Given the description of an element on the screen output the (x, y) to click on. 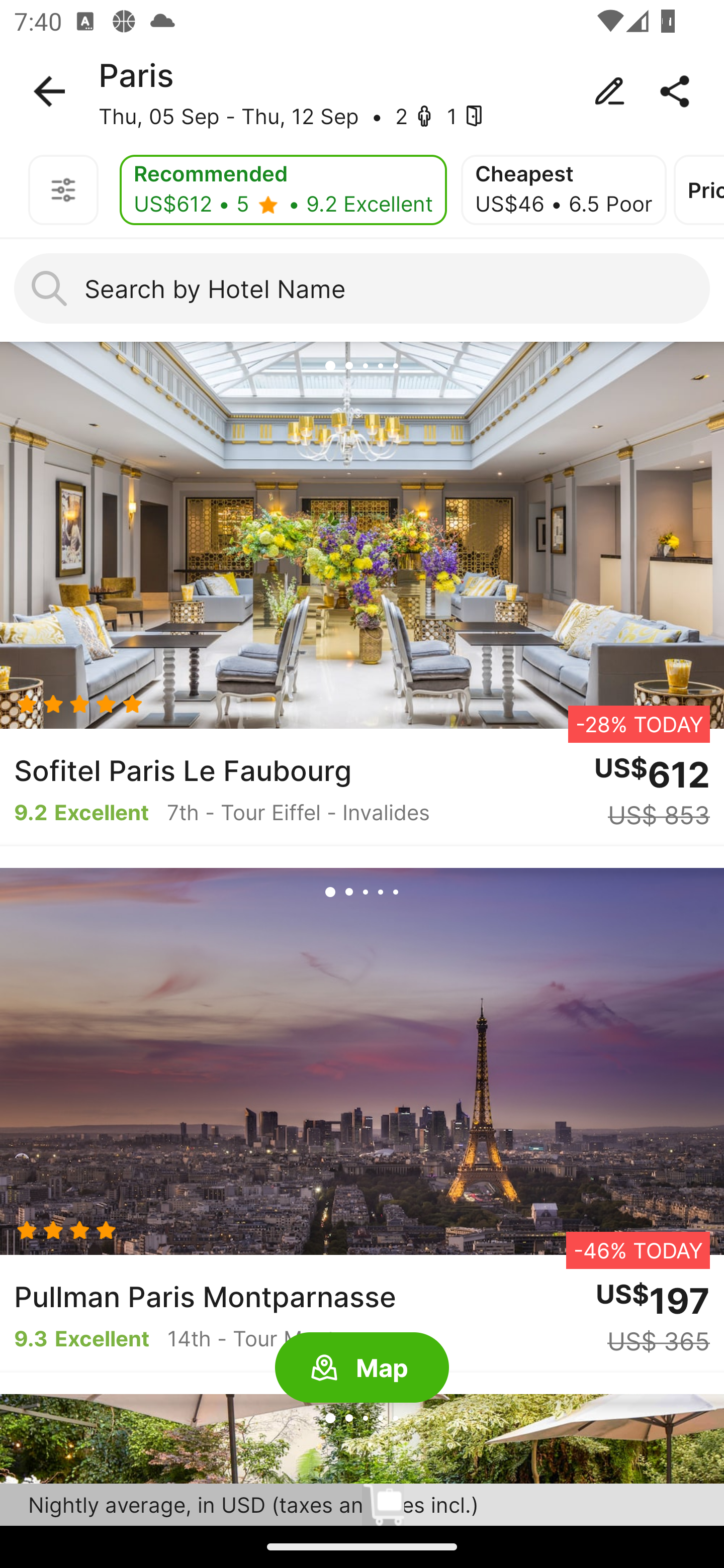
Paris Thu, 05 Sep - Thu, 12 Sep  •  2 -  1 - (361, 91)
Recommended  US$612  • 5 - • 9.2 Excellent (282, 190)
Cheapest US$46  • 6.5 Poor (563, 190)
Search by Hotel Name  (361, 288)
Map  (361, 1367)
